Given the description of an element on the screen output the (x, y) to click on. 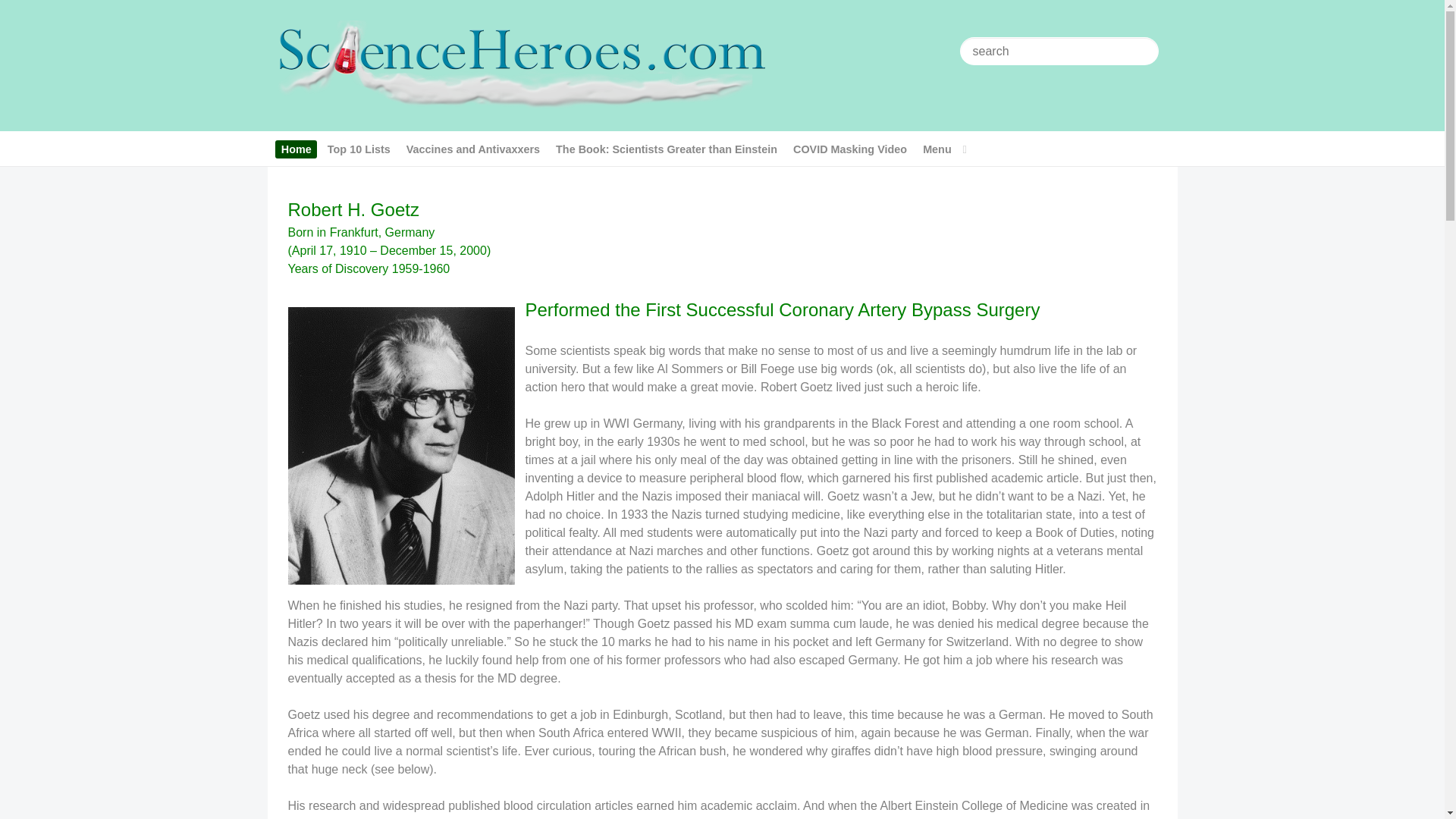
COVID Masking Video (849, 149)
Top 10 Lists (358, 149)
The Book: Scientists Greater than Einstein (666, 149)
ScienceHeroes (521, 64)
Vaccines and Antivaxxers (472, 149)
Home (296, 149)
Menu (944, 149)
